Given the description of an element on the screen output the (x, y) to click on. 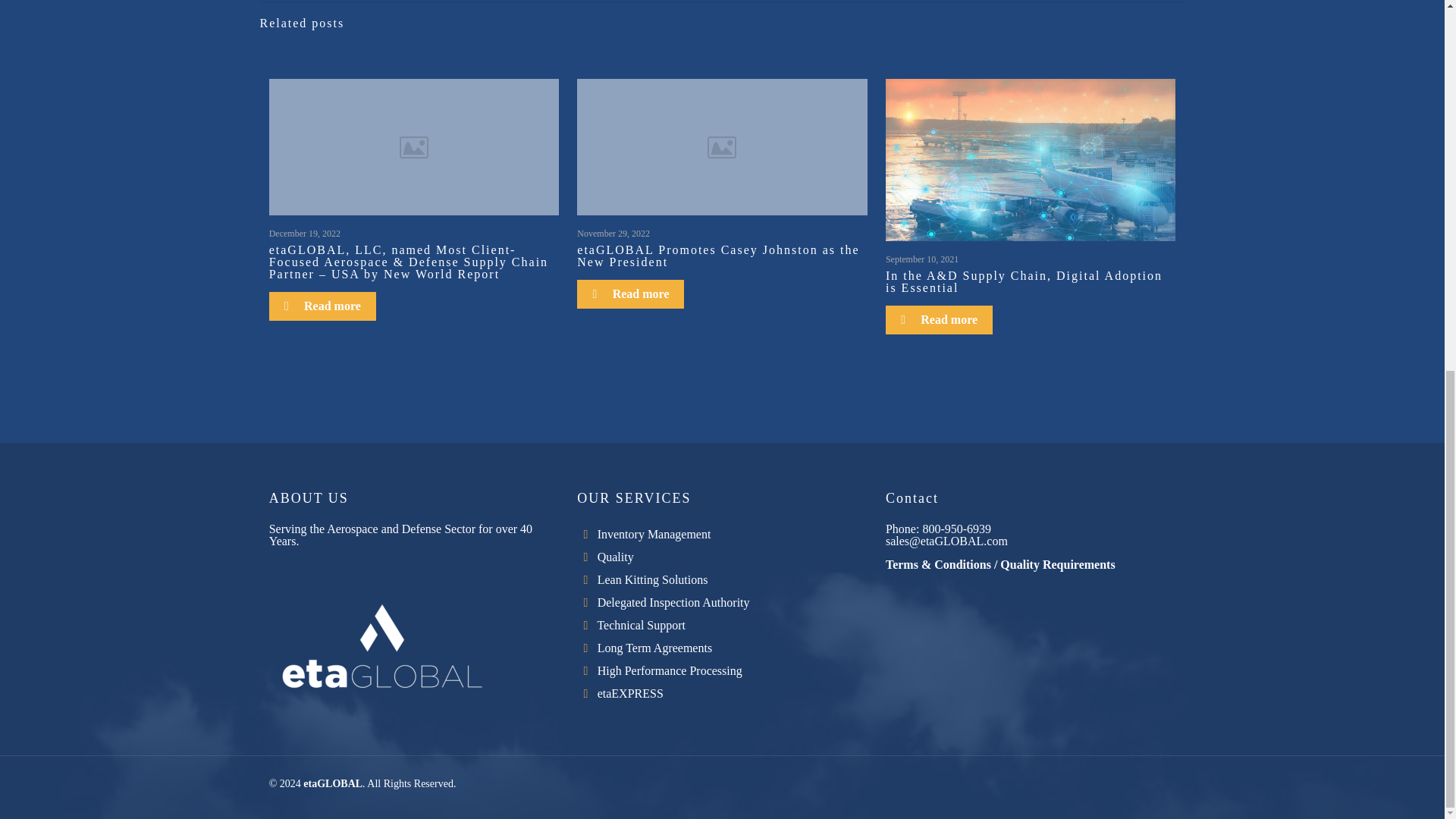
Inventory Management (653, 533)
etaGLOBAL Promotes Casey Johnston as the New President (717, 255)
Quality (614, 556)
Delegated Inspection Authority (672, 602)
Technical Support (640, 625)
Read more (322, 306)
Read more (630, 294)
Lean Kitting Solutions (651, 579)
Read more (938, 319)
